Given the description of an element on the screen output the (x, y) to click on. 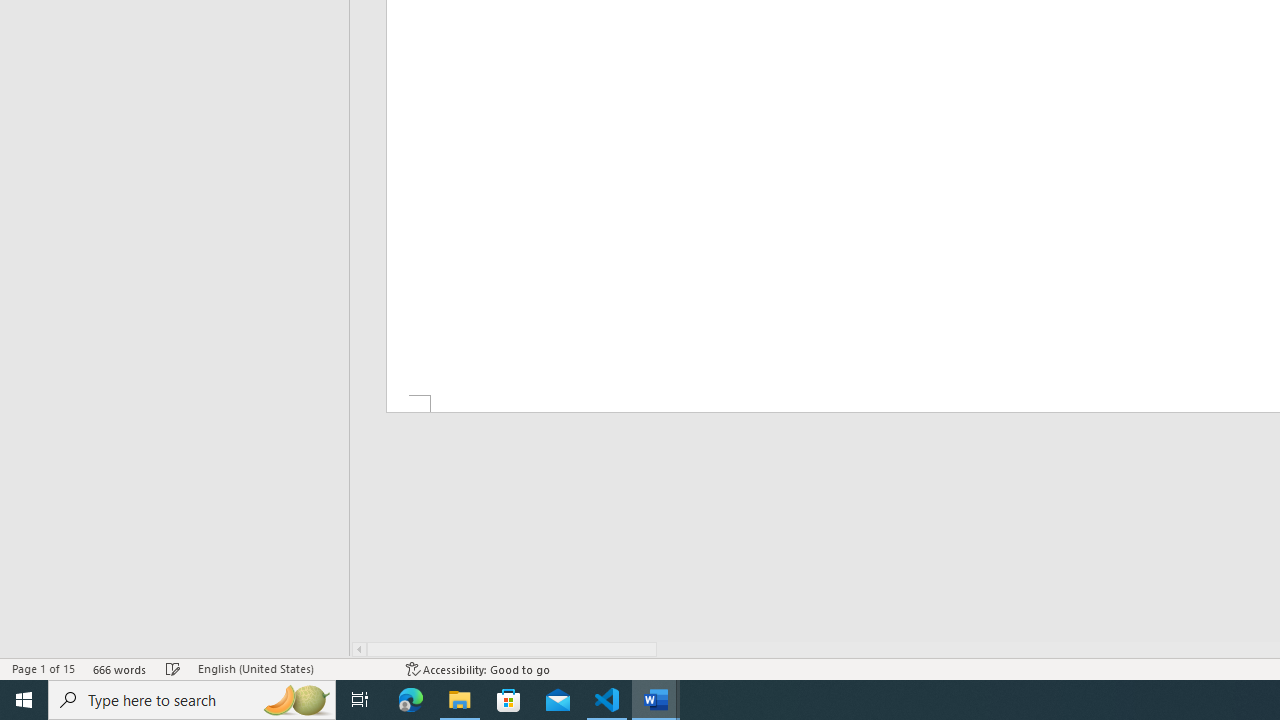
Page Number Page 1 of 15 (43, 668)
